Given the description of an element on the screen output the (x, y) to click on. 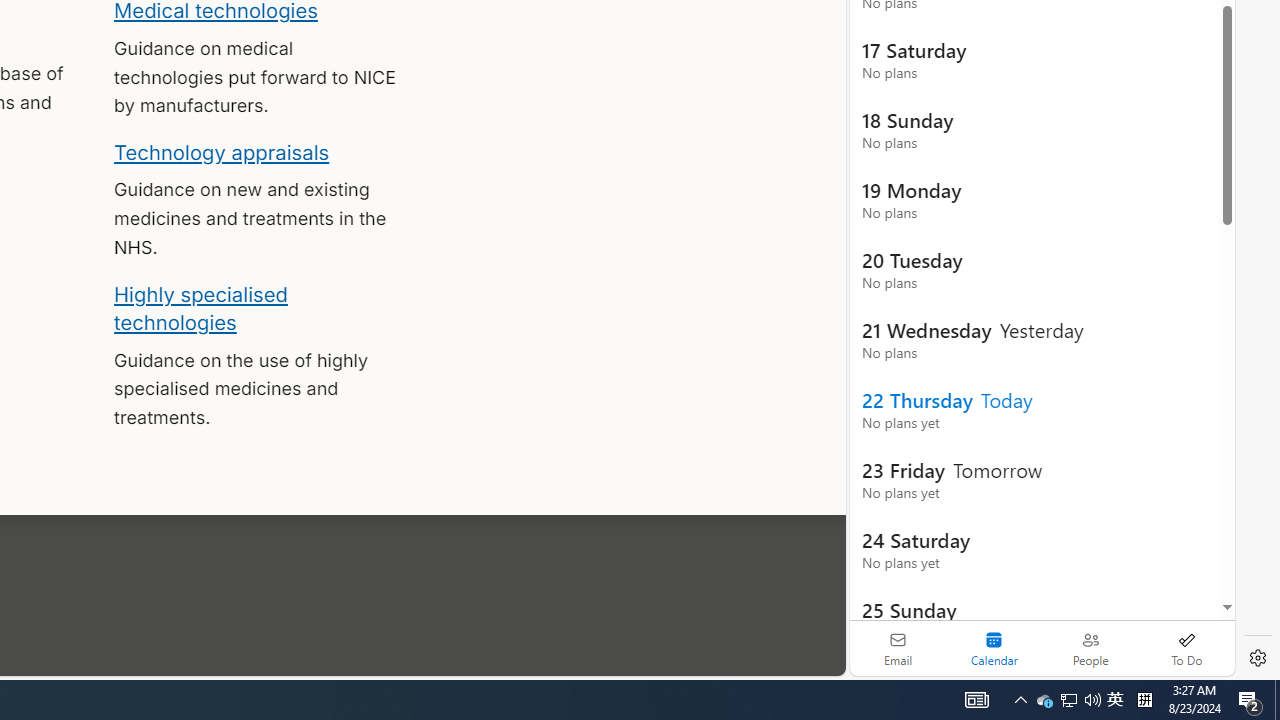
To Do (1186, 648)
Technology appraisals (221, 152)
Highly specialised technologies (200, 308)
Selected calendar module. Date today is 22 (994, 648)
Email (898, 648)
People (1090, 648)
